Given the description of an element on the screen output the (x, y) to click on. 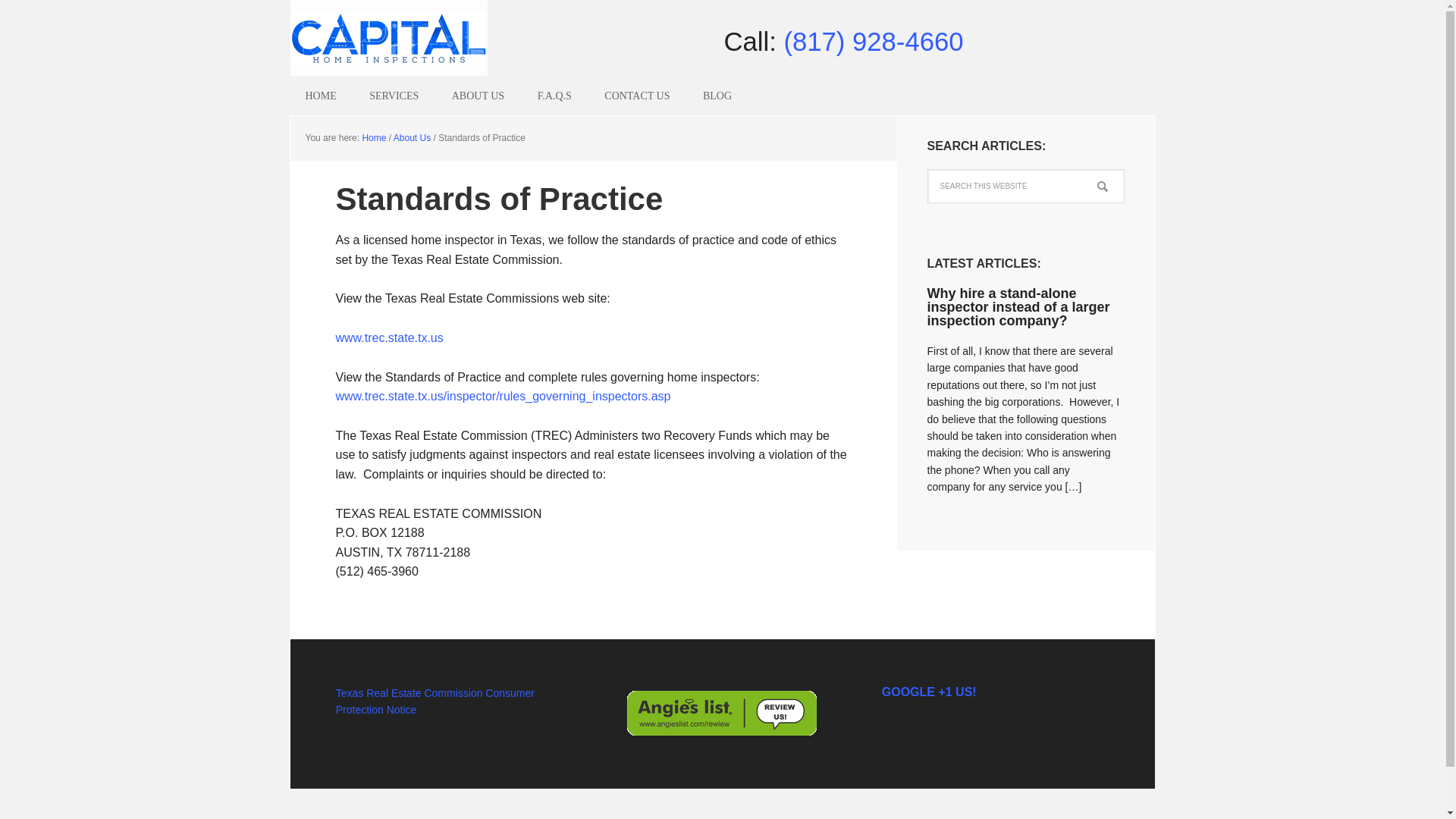
www.trec.state.tx.us (388, 337)
About Us (411, 137)
F.A.Q.S (554, 96)
SERVICES (393, 96)
CONTACT US (636, 96)
ABOUT US (477, 96)
Home (373, 137)
HOME (319, 96)
BLOG (716, 96)
Texas Real Estate Commission Consumer Protection Notice (435, 701)
